Given the description of an element on the screen output the (x, y) to click on. 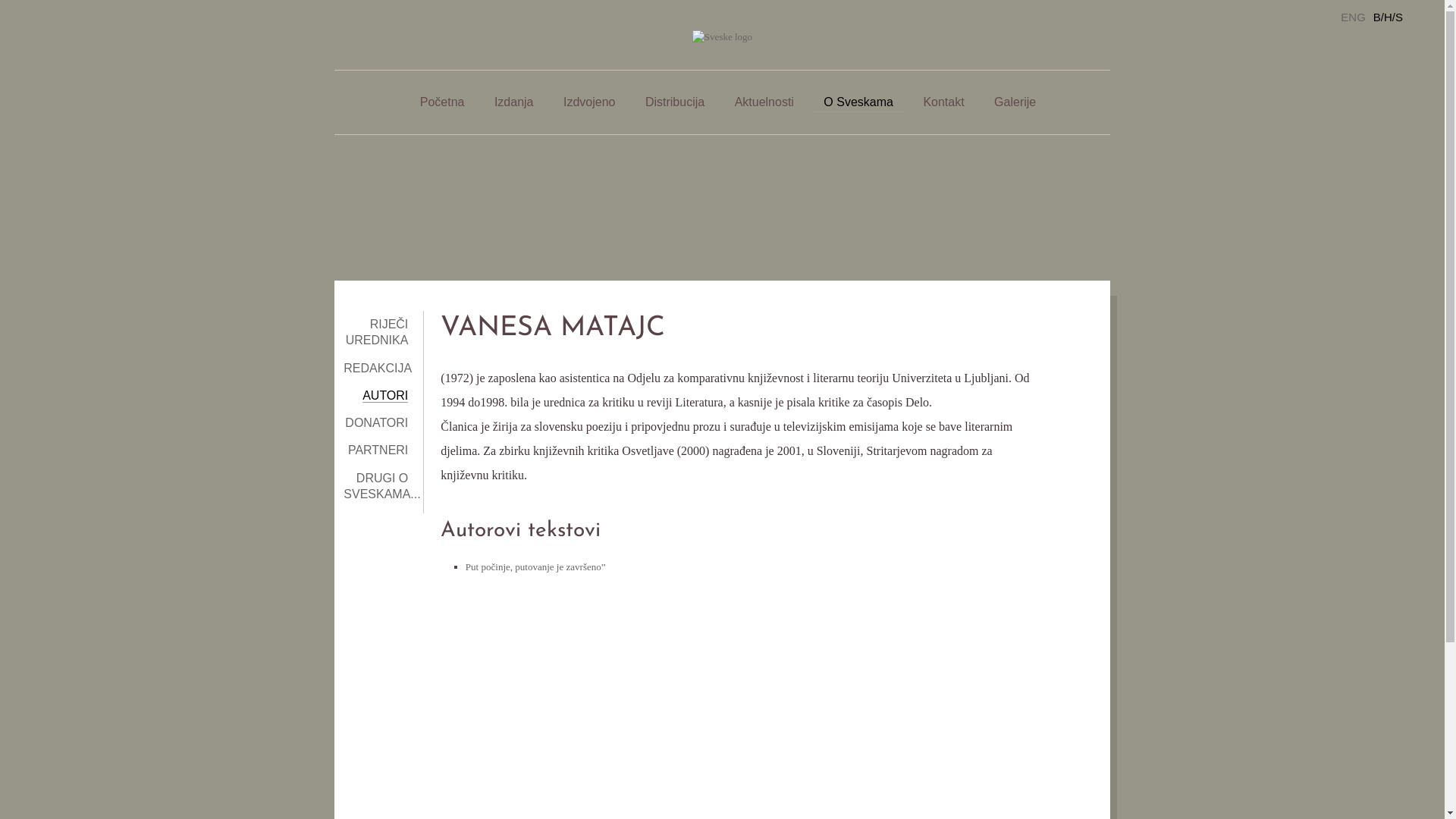
Distribucija Element type: text (674, 101)
B/H/S Element type: text (1387, 16)
ENG Element type: text (1352, 16)
Galerije Element type: text (1015, 101)
Aktuelnosti Element type: text (764, 101)
Sveske logo Element type: hover (722, 36)
Kontakt Element type: text (942, 101)
AUTORI Element type: text (384, 395)
REDAKCIJA Element type: text (377, 367)
Izdanja Element type: text (514, 101)
DRUGI O SVESKAMA... Element type: text (381, 485)
Search Element type: text (1420, 20)
PARTNERI Element type: text (377, 449)
Izdvojeno Element type: text (589, 101)
O Sveskama Element type: text (858, 102)
DONATORI Element type: text (376, 422)
